Given the description of an element on the screen output the (x, y) to click on. 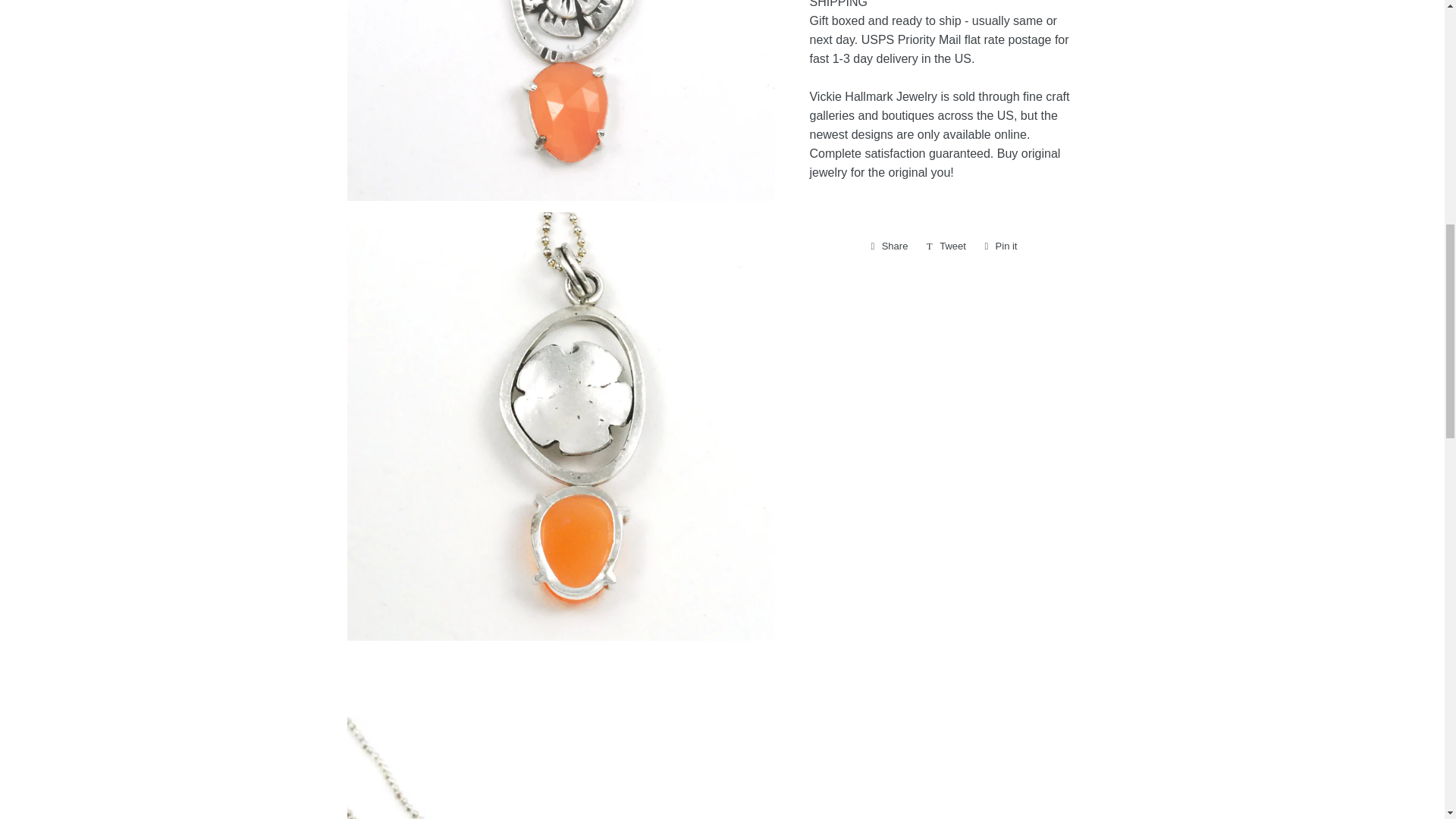
Share on Facebook (889, 246)
Tweet on Twitter (946, 246)
Pin on Pinterest (1000, 246)
